Given the description of an element on the screen output the (x, y) to click on. 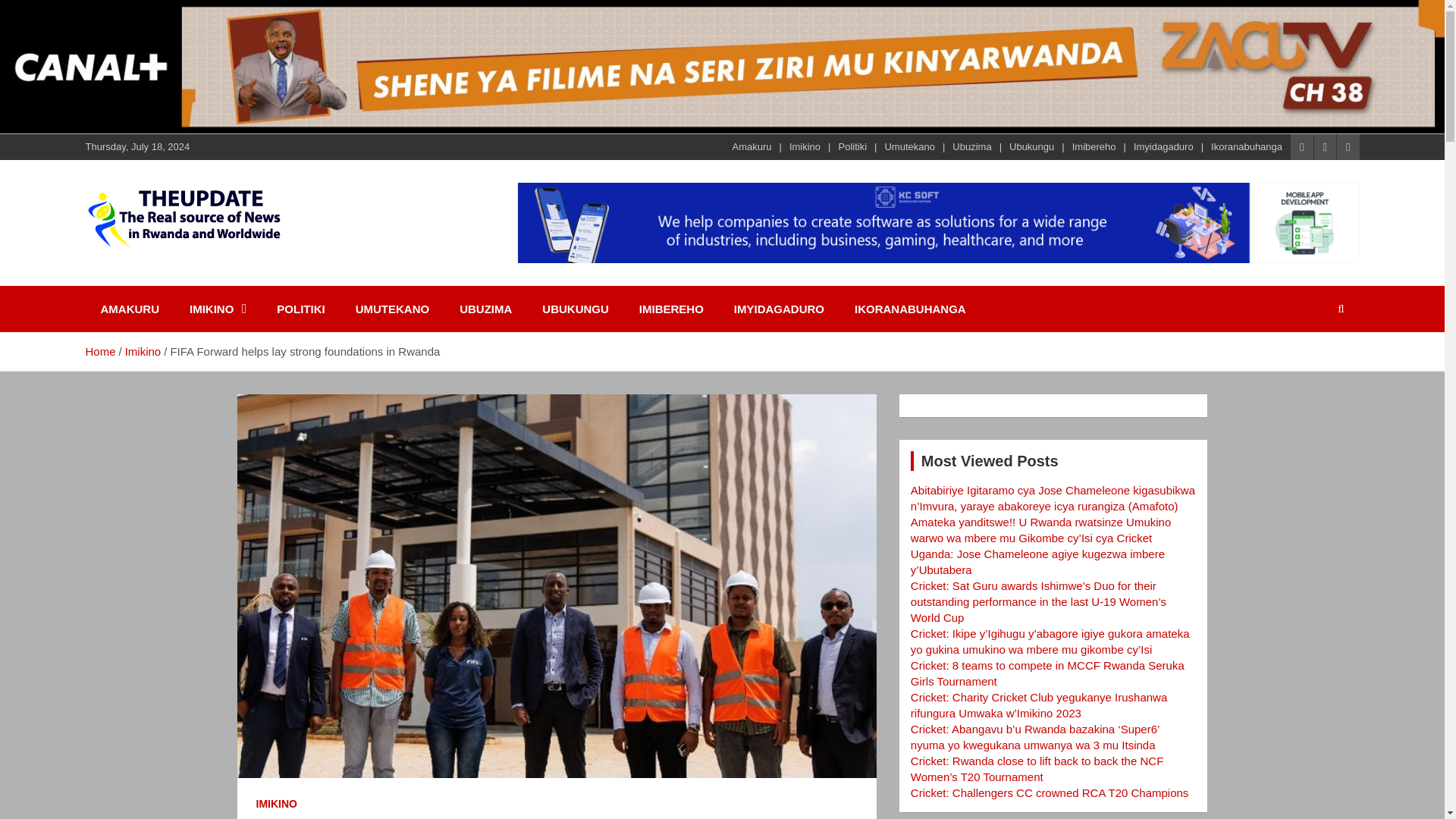
Home (99, 350)
Imibereho (1093, 146)
IMIKINO (218, 308)
UBUZIMA (485, 308)
UBUKUNGU (575, 308)
AMAKURU (129, 308)
Umutekano (908, 146)
IMYIDAGADURO (779, 308)
Imikino (805, 146)
Politiki (852, 146)
Ubuzima (971, 146)
THEUPDATE (175, 280)
Imyidagaduro (1163, 146)
POLITIKI (300, 308)
Ubukungu (1031, 146)
